Given the description of an element on the screen output the (x, y) to click on. 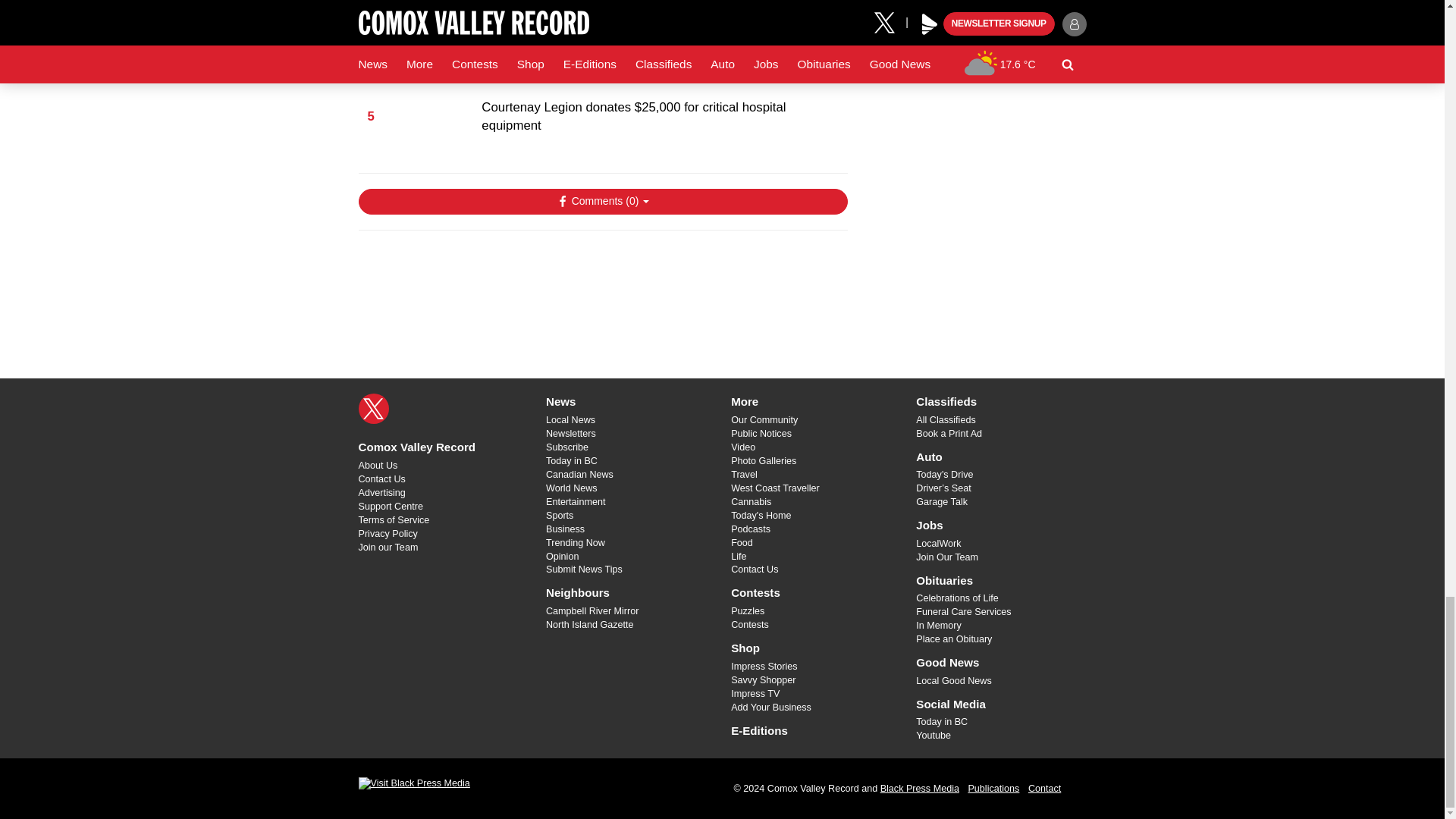
X (373, 408)
Show Comments (602, 201)
